Given the description of an element on the screen output the (x, y) to click on. 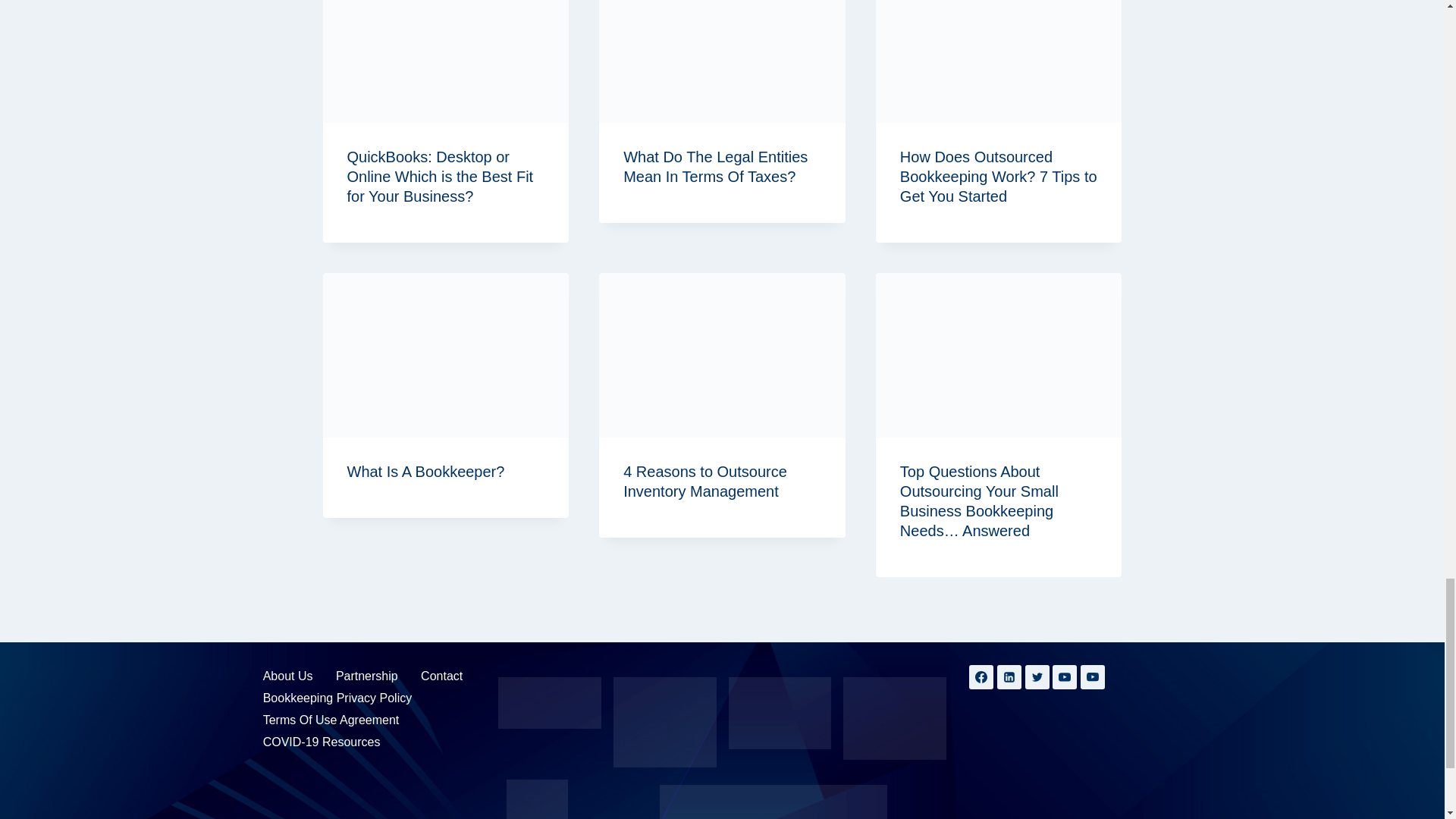
About Us (287, 676)
